Given the description of an element on the screen output the (x, y) to click on. 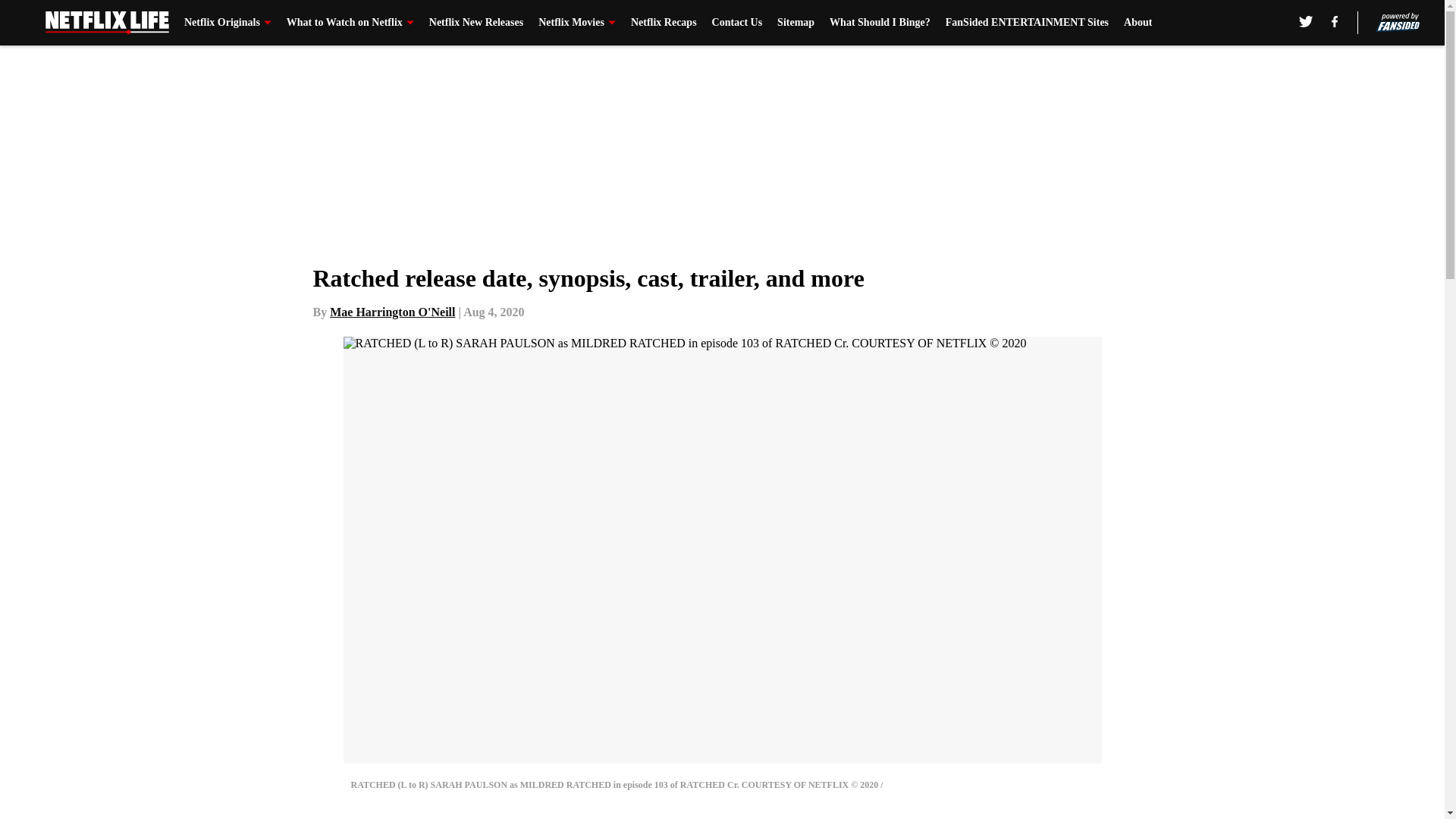
What to Watch on Netflix (349, 22)
Netflix Movies (576, 22)
Netflix Originals (227, 22)
Netflix New Releases (475, 22)
